Given the description of an element on the screen output the (x, y) to click on. 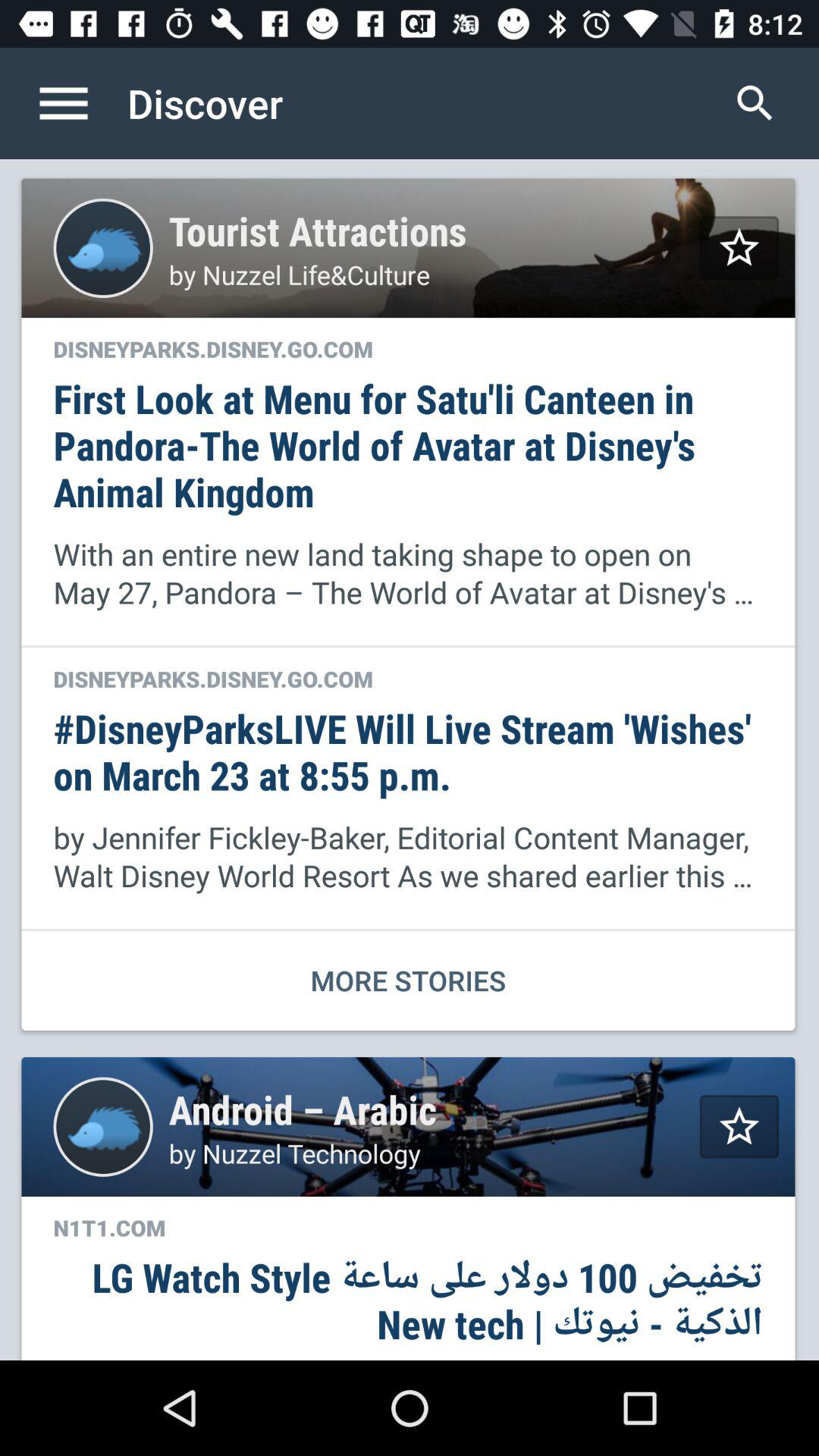
mark as favorite (739, 247)
